Given the description of an element on the screen output the (x, y) to click on. 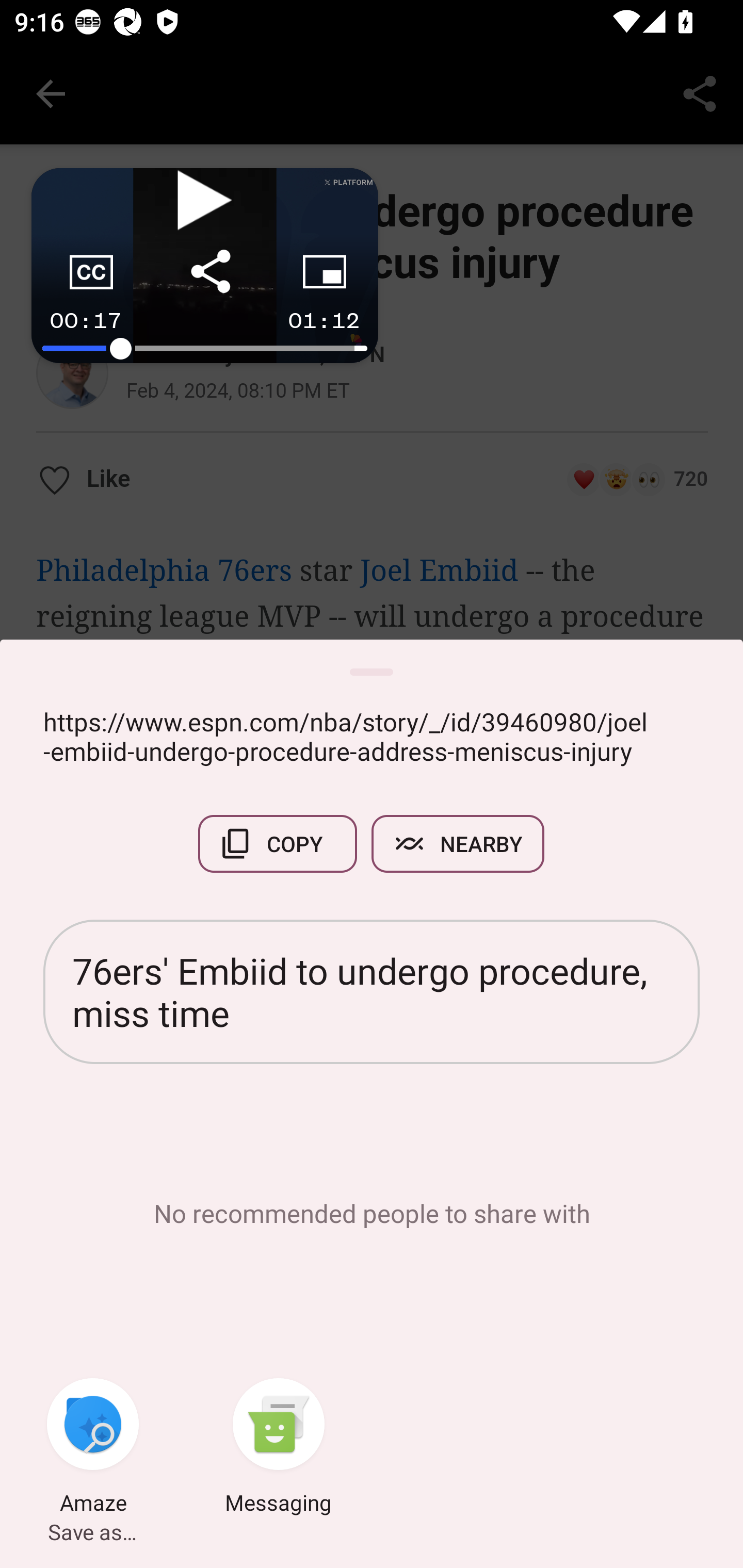
COPY (277, 844)
NEARBY (457, 844)
Amaze Save as… (92, 1448)
Messaging (278, 1448)
